Given the description of an element on the screen output the (x, y) to click on. 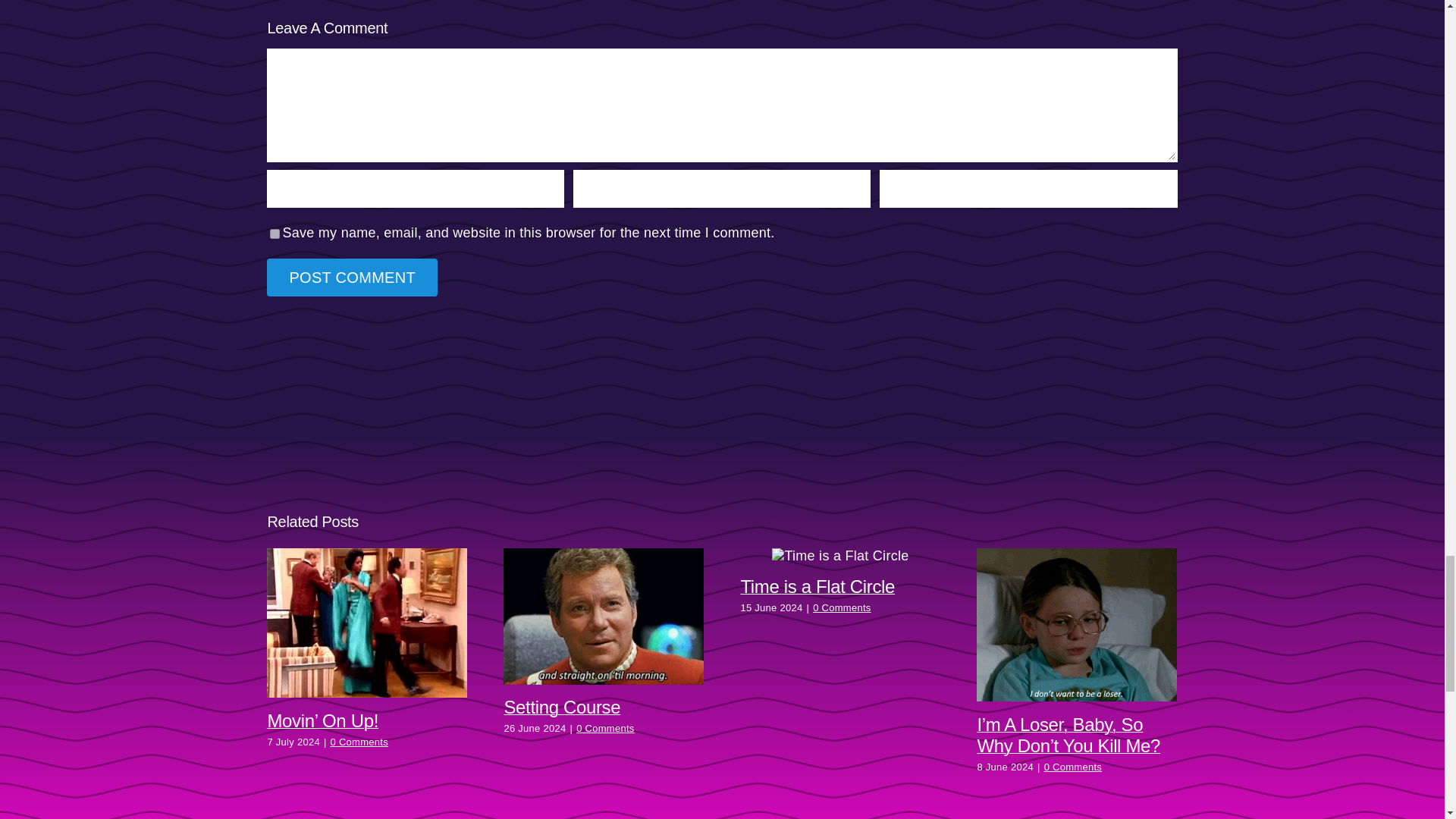
Post Comment (352, 277)
Setting Course (561, 706)
Setting Course (561, 706)
0 Comments (1072, 767)
Time is a Flat Circle (817, 586)
Time is a Flat Circle (817, 586)
Post Comment (352, 277)
0 Comments (841, 607)
0 Comments (604, 727)
yes (274, 234)
0 Comments (359, 741)
